Given the description of an element on the screen output the (x, y) to click on. 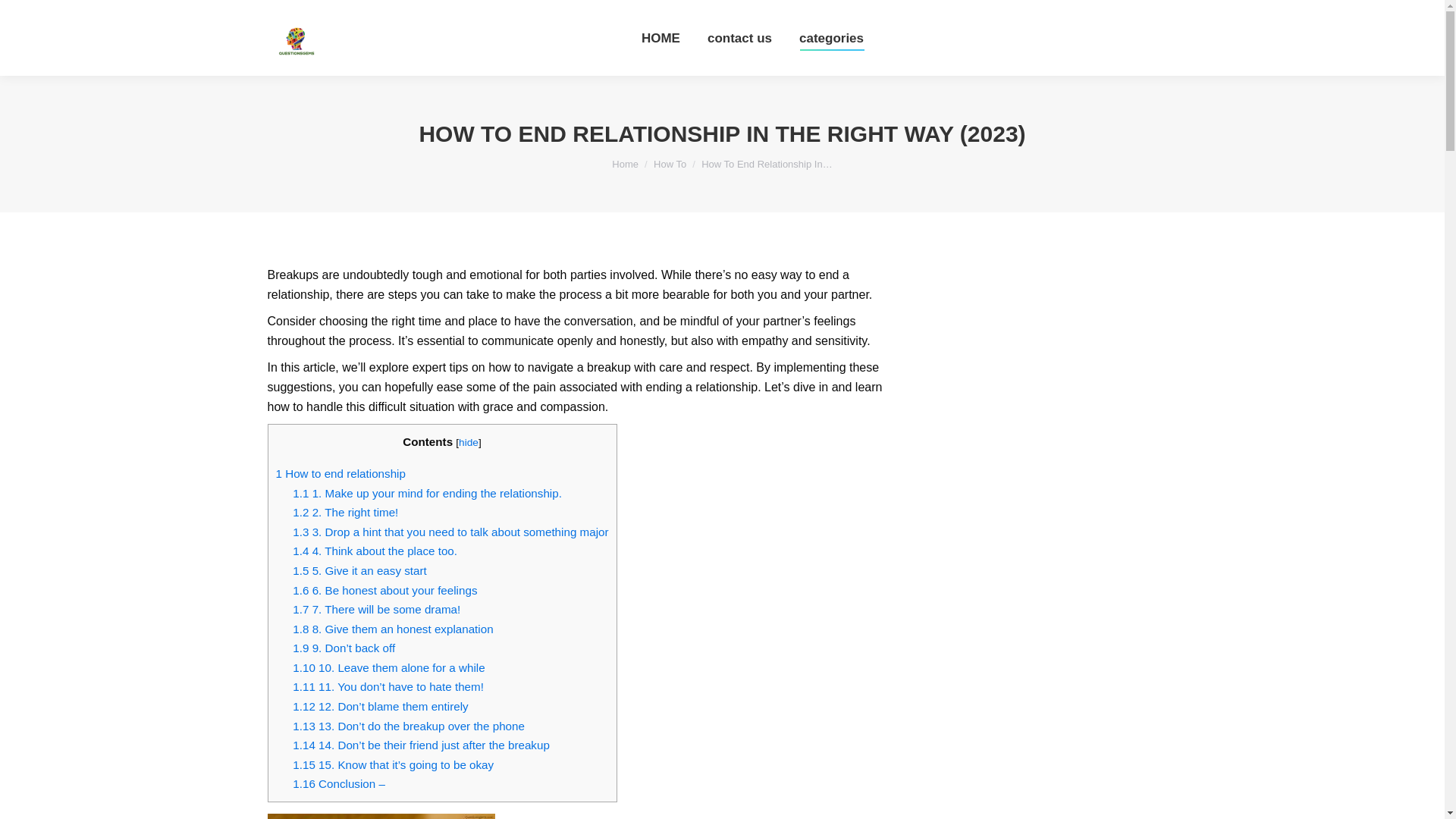
1.1 1. Make up your mind for ending the relationship. (427, 492)
1.10 10. Leave them alone for a while (388, 667)
How To (669, 163)
categories (831, 37)
1.2 2. The right time! (344, 512)
1.5 5. Give it an easy start (359, 570)
Home (625, 163)
Home (625, 163)
How To (669, 163)
1 How to end relationship (341, 472)
